Given the description of an element on the screen output the (x, y) to click on. 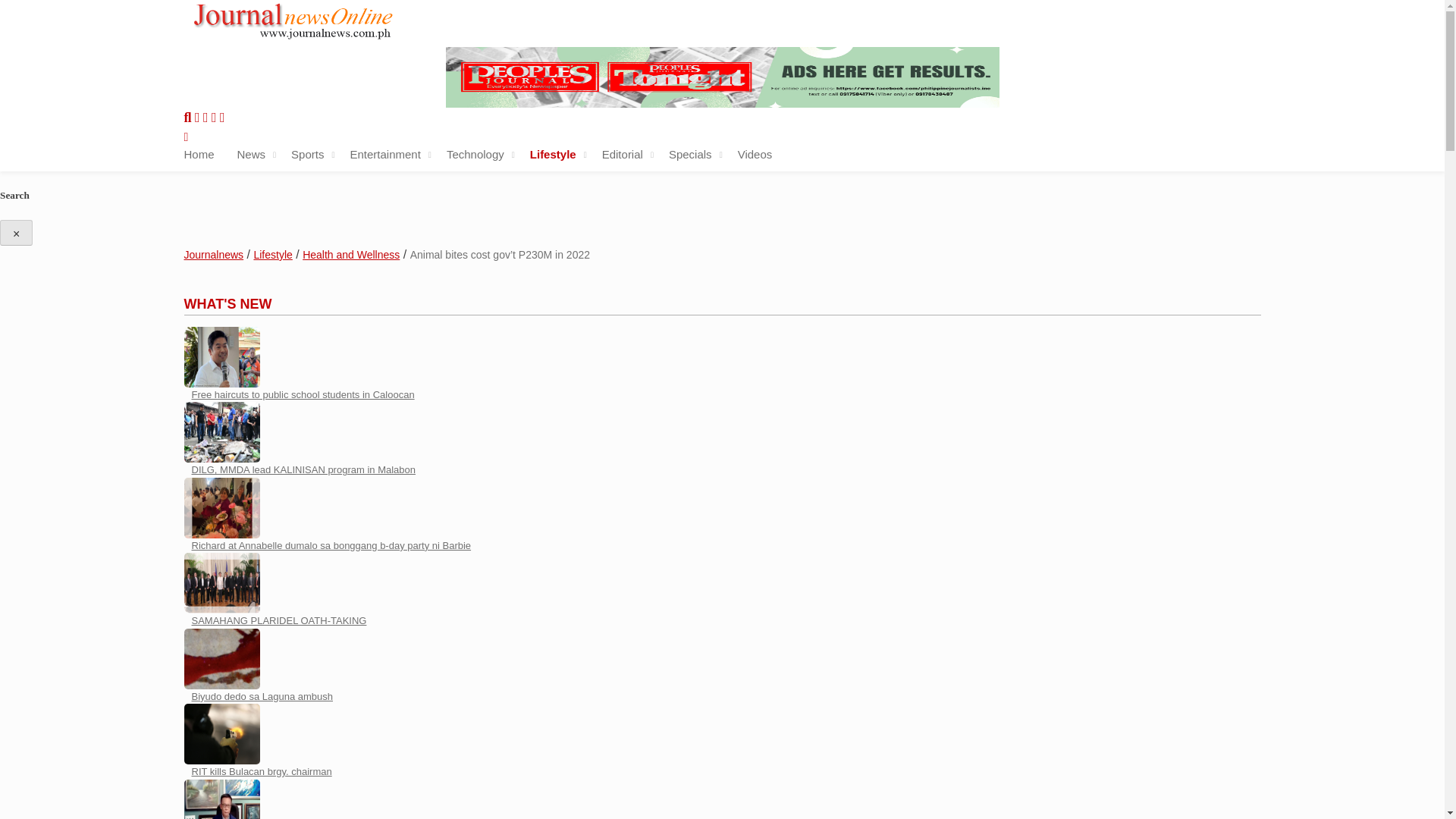
Sports (307, 154)
Technology (474, 154)
Go to the Lifestyle category archives. (272, 254)
Go to Journalnews. (213, 254)
Editorial (622, 154)
Home (198, 154)
Go to the Health and Wellness category archives. (350, 254)
Lifestyle (552, 154)
Specials (689, 154)
Entertainment (384, 154)
News (251, 154)
